Given the description of an element on the screen output the (x, y) to click on. 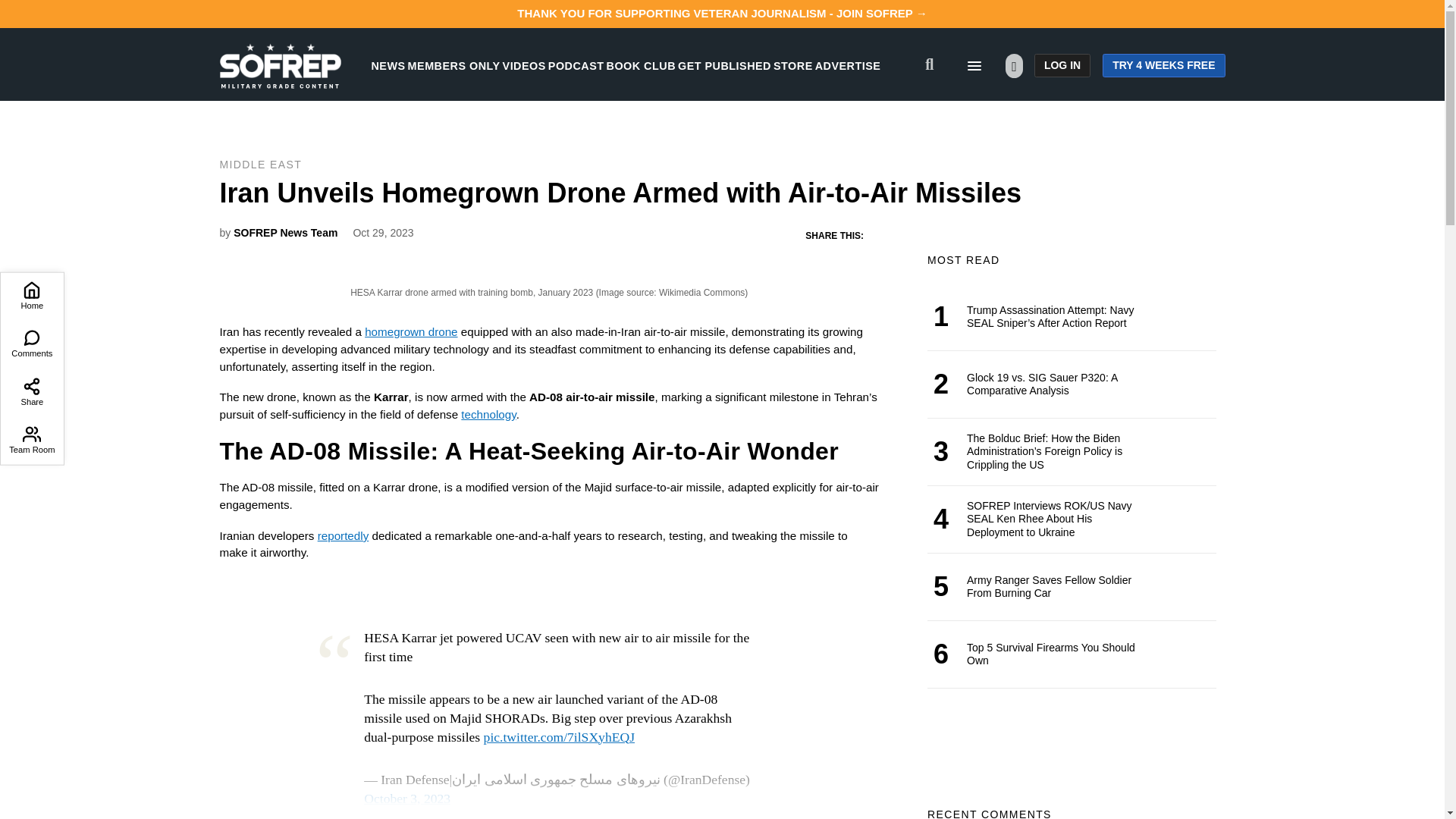
STORE (792, 65)
LOG IN (1061, 65)
GET PUBLISHED (724, 65)
PODCAST (576, 65)
TRY 4 WEEKS FREE (1163, 65)
MEMBERS ONLY (453, 65)
ADVERTISE (847, 65)
BOOK CLUB (641, 65)
NEWS (388, 65)
VIDEOS (524, 65)
